Given the description of an element on the screen output the (x, y) to click on. 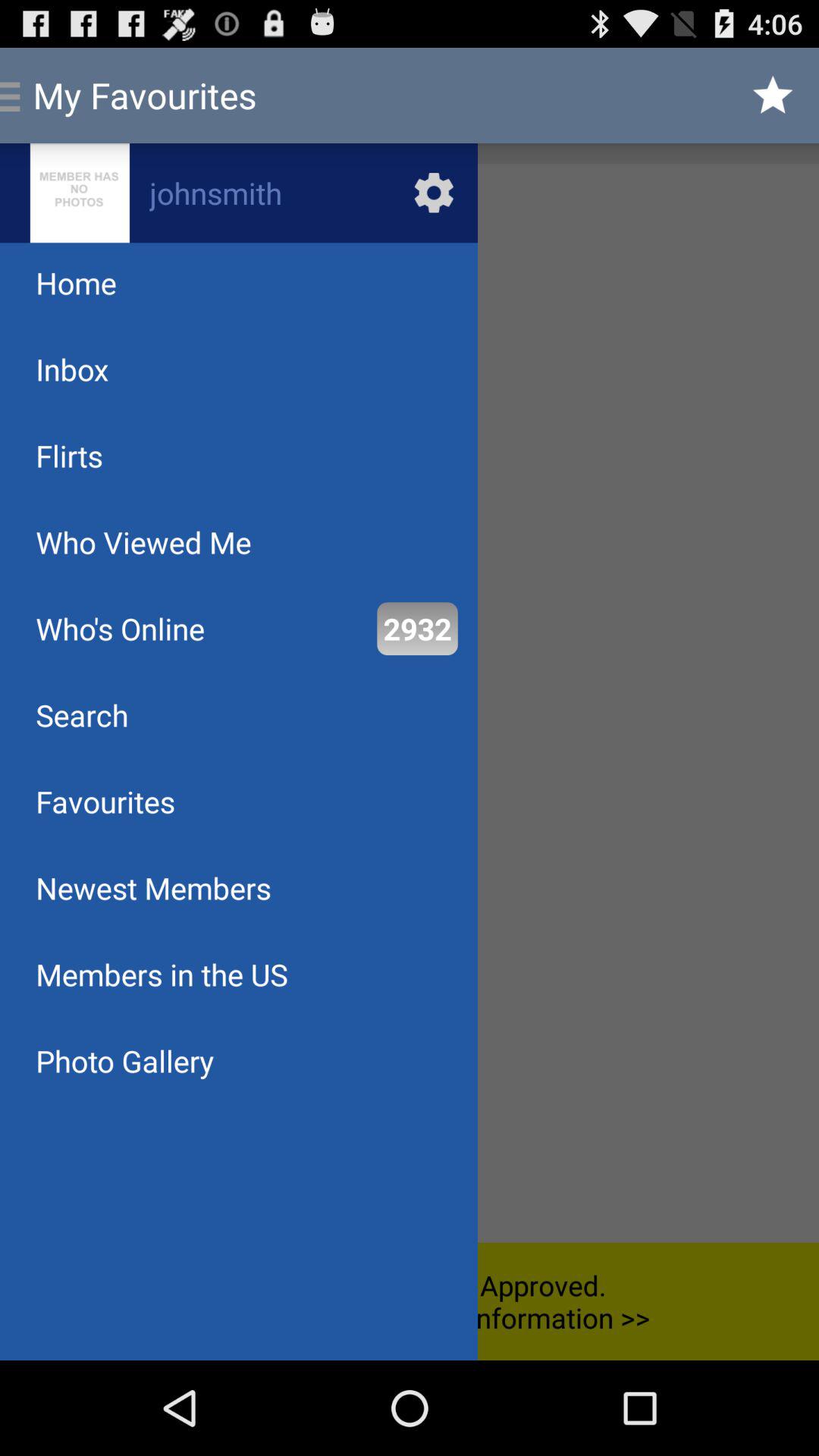
swipe to the your profile is (409, 1301)
